Given the description of an element on the screen output the (x, y) to click on. 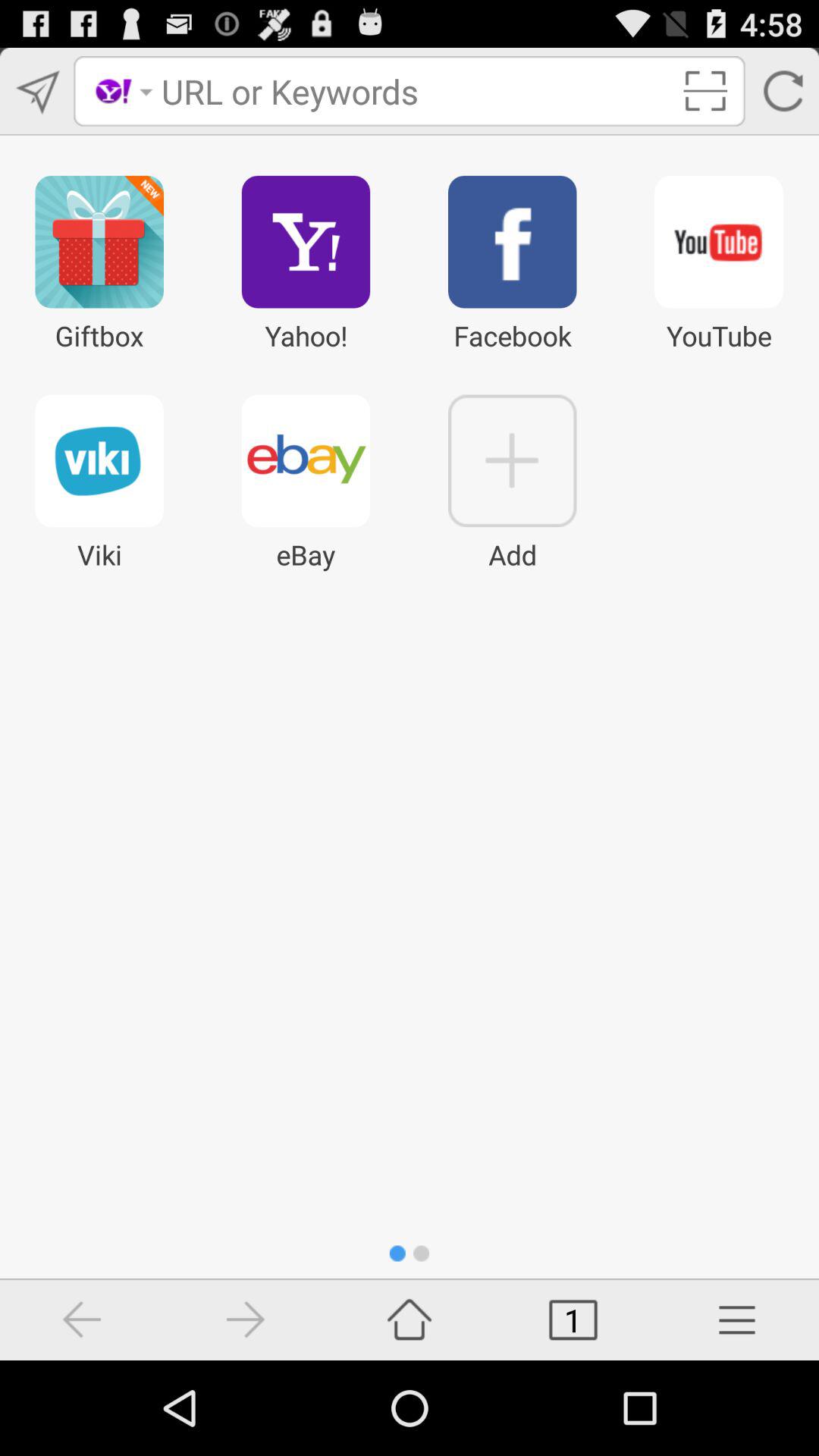
click on second button from bottom right corner of the page (572, 1320)
click on facebook (512, 254)
click on more options (737, 1319)
click on the image above yahoo (305, 241)
click on icon above ebay below yahoo (305, 460)
click on the image having the text viki (99, 460)
